Given the description of an element on the screen output the (x, y) to click on. 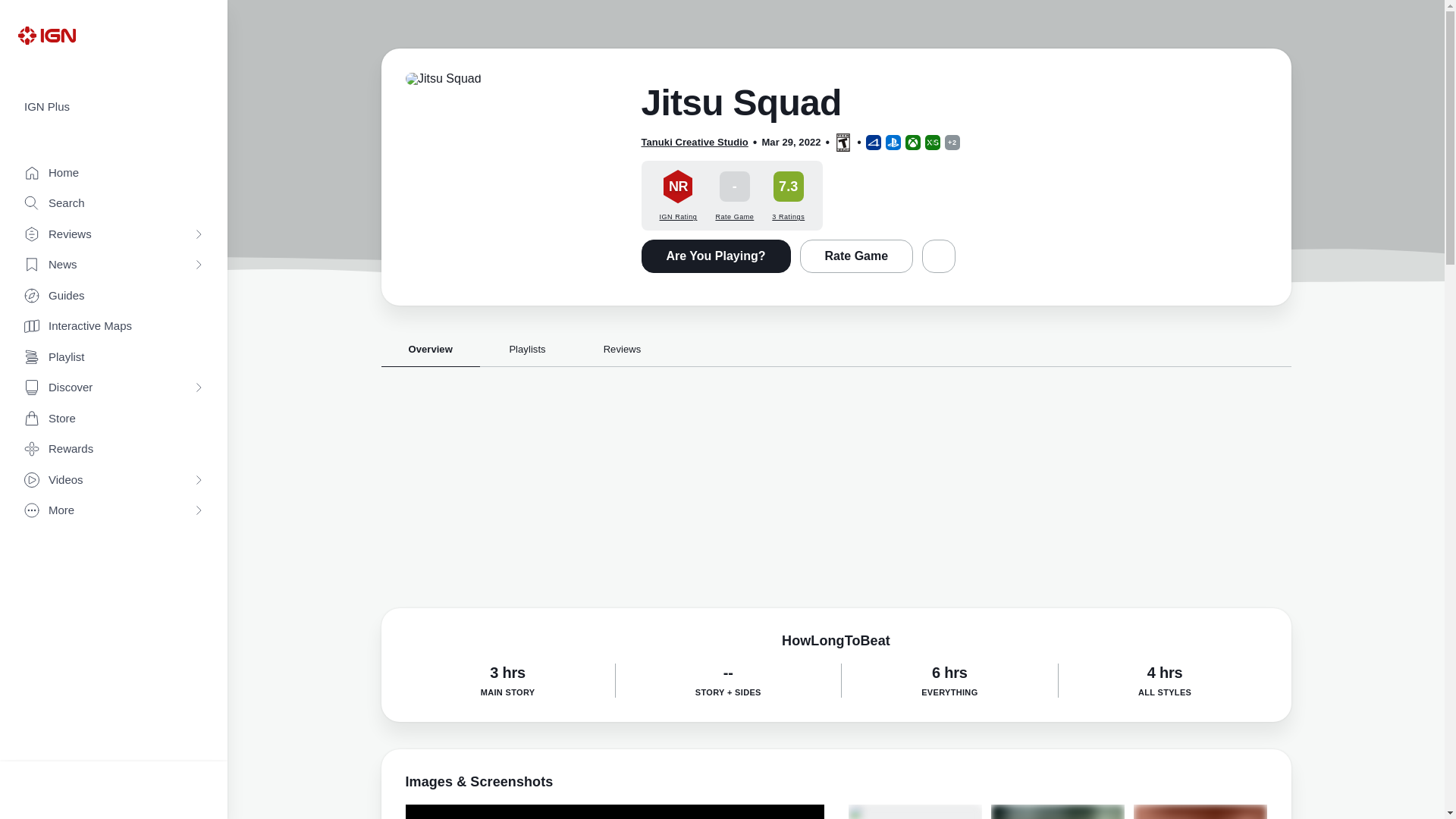
IGN Plus (113, 107)
Store (113, 418)
Search (113, 203)
Playlist (113, 357)
News (113, 265)
News (113, 265)
More (113, 510)
Reviews (113, 234)
More (113, 510)
Interactive Maps (113, 326)
